Given the description of an element on the screen output the (x, y) to click on. 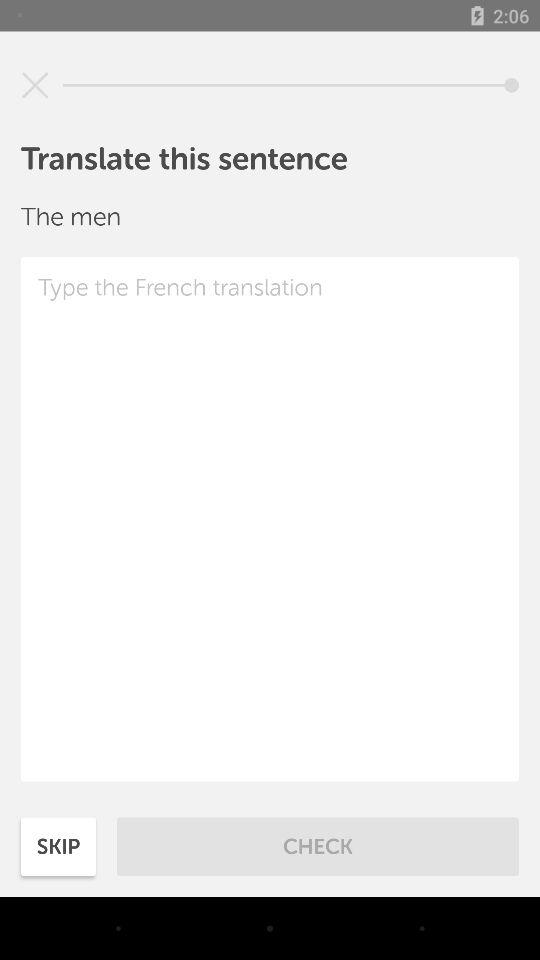
turn off icon next to the skip item (318, 846)
